Given the description of an element on the screen output the (x, y) to click on. 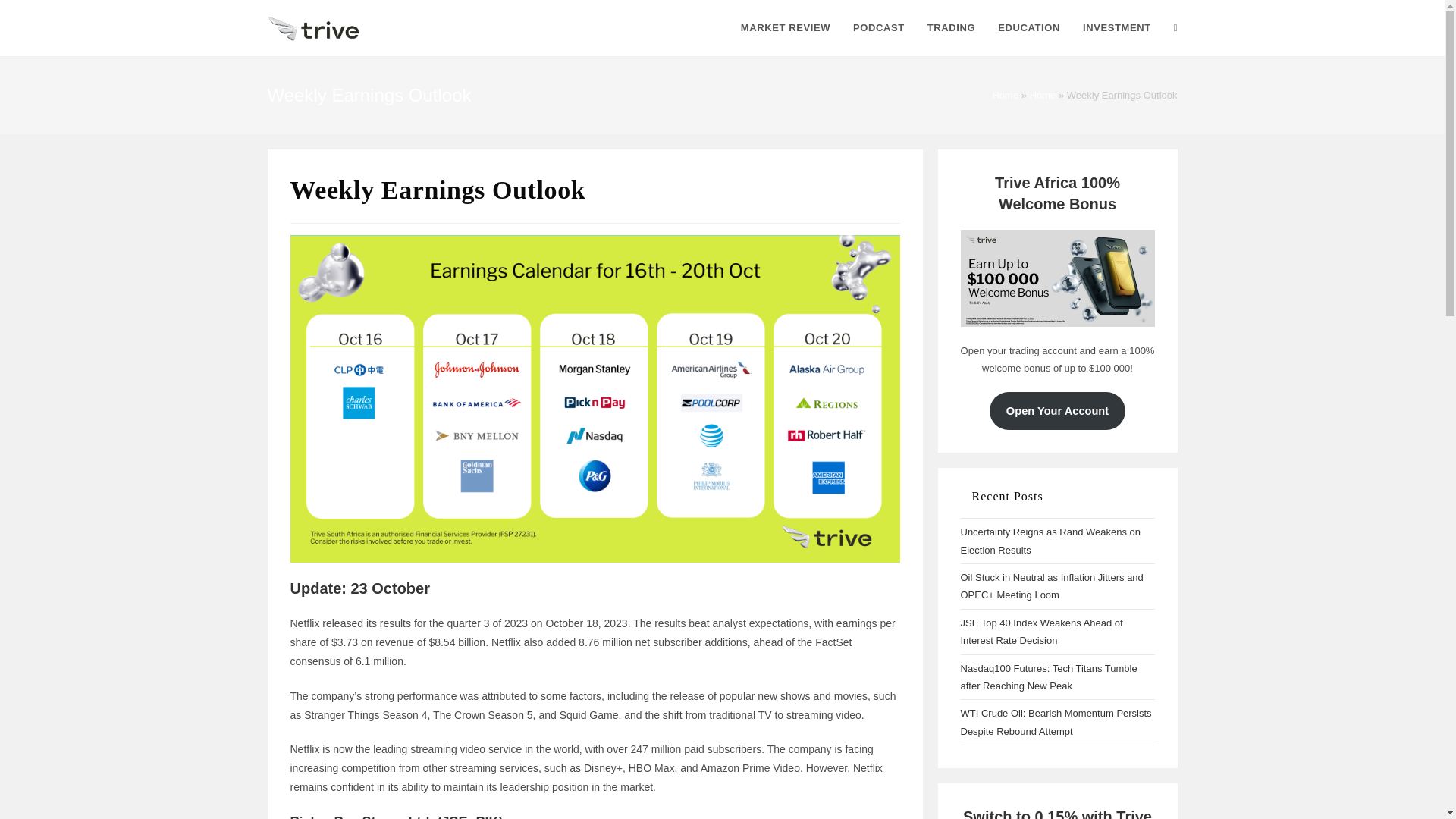
PODCAST (878, 28)
Home (1043, 94)
Uncertainty Reigns as Rand Weakens on Election Results (1049, 540)
MARKET REVIEW (785, 28)
TRADING (951, 28)
INVESTMENT (1116, 28)
EDUCATION (1029, 28)
Open Your Account (1057, 410)
